Given the description of an element on the screen output the (x, y) to click on. 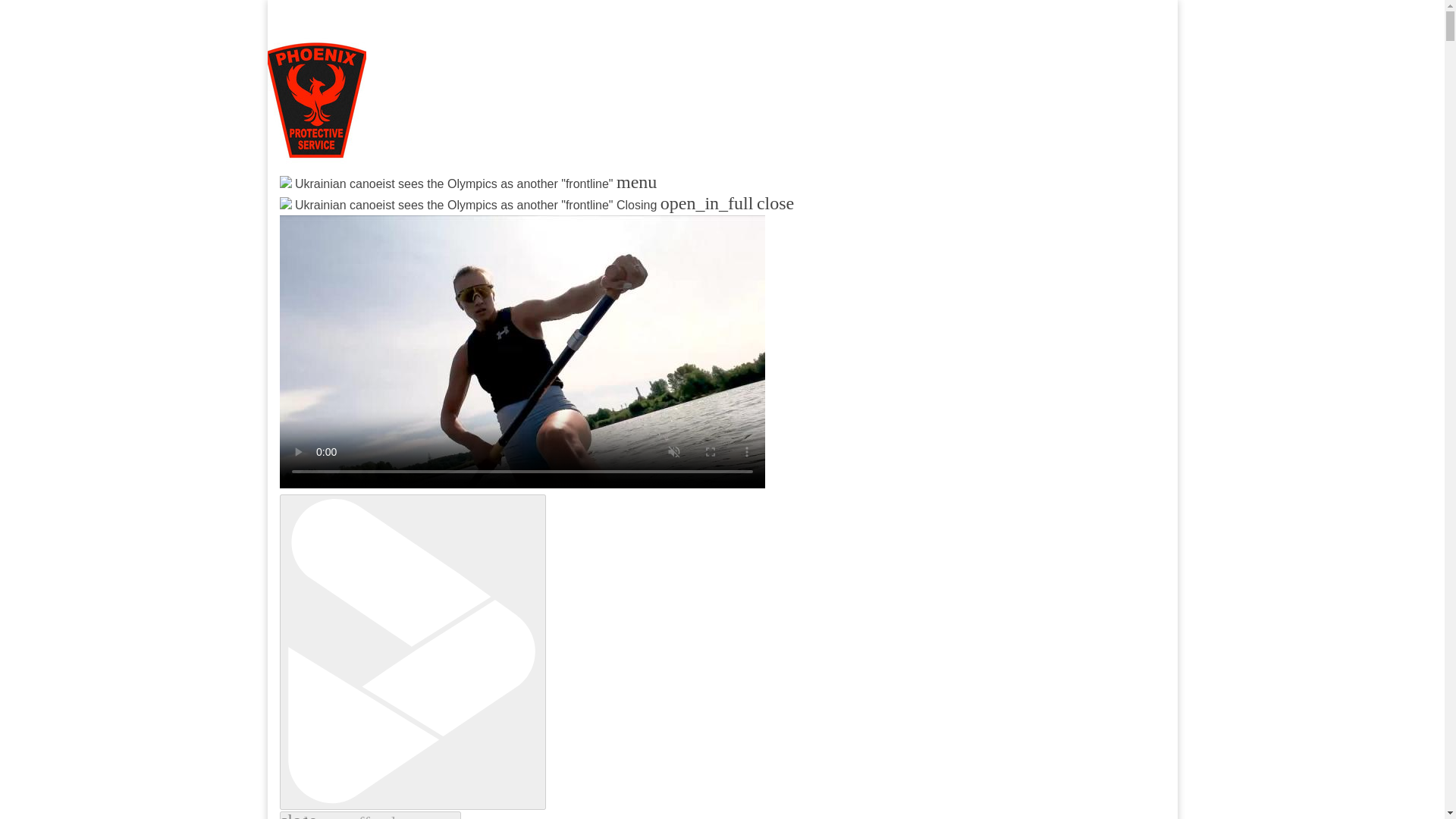
Skope Entertainment Inc (462, 220)
Skope Entertainment Inc (462, 220)
